Given the description of an element on the screen output the (x, y) to click on. 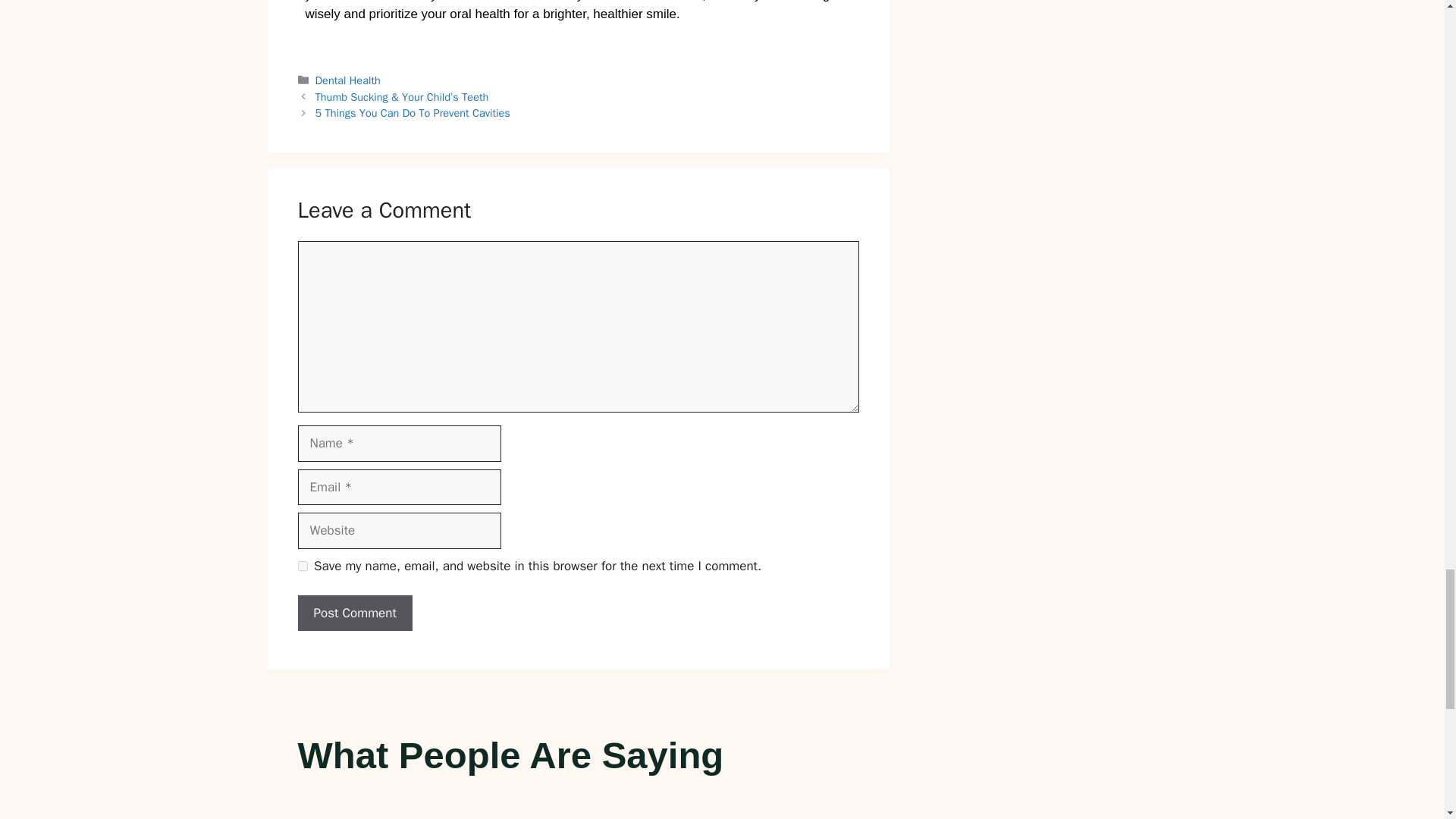
Post Comment (354, 613)
Dental Health (347, 79)
5 Things You Can Do To Prevent Cavities (413, 112)
yes (302, 565)
